Given the description of an element on the screen output the (x, y) to click on. 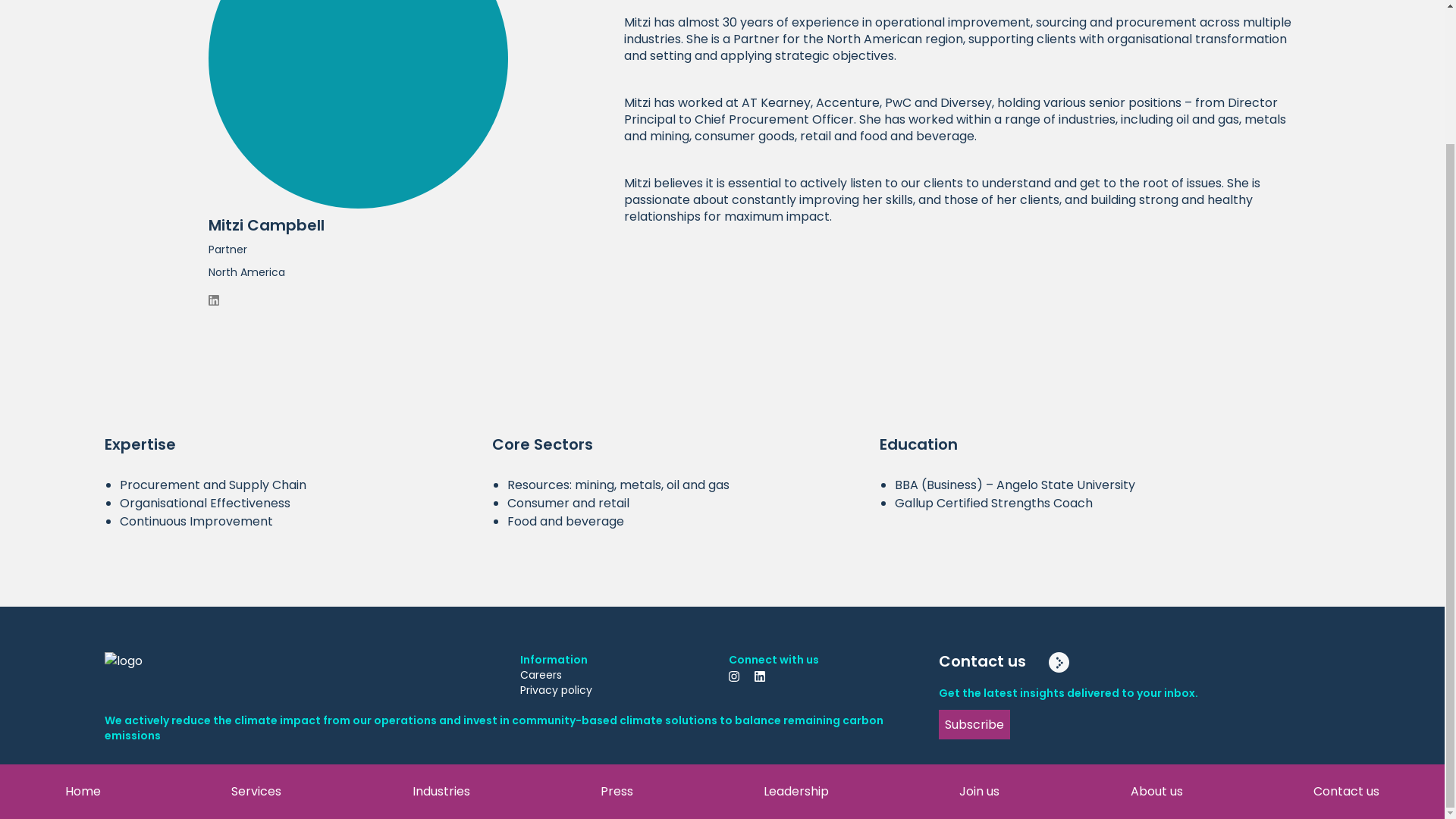
Services (256, 628)
About us (1156, 627)
Privacy policy (617, 689)
Press (616, 627)
Contact us (1345, 627)
Industries (441, 628)
Subscribe (974, 724)
Join us (978, 627)
Leadership (795, 627)
Contact us (1068, 660)
